Given the description of an element on the screen output the (x, y) to click on. 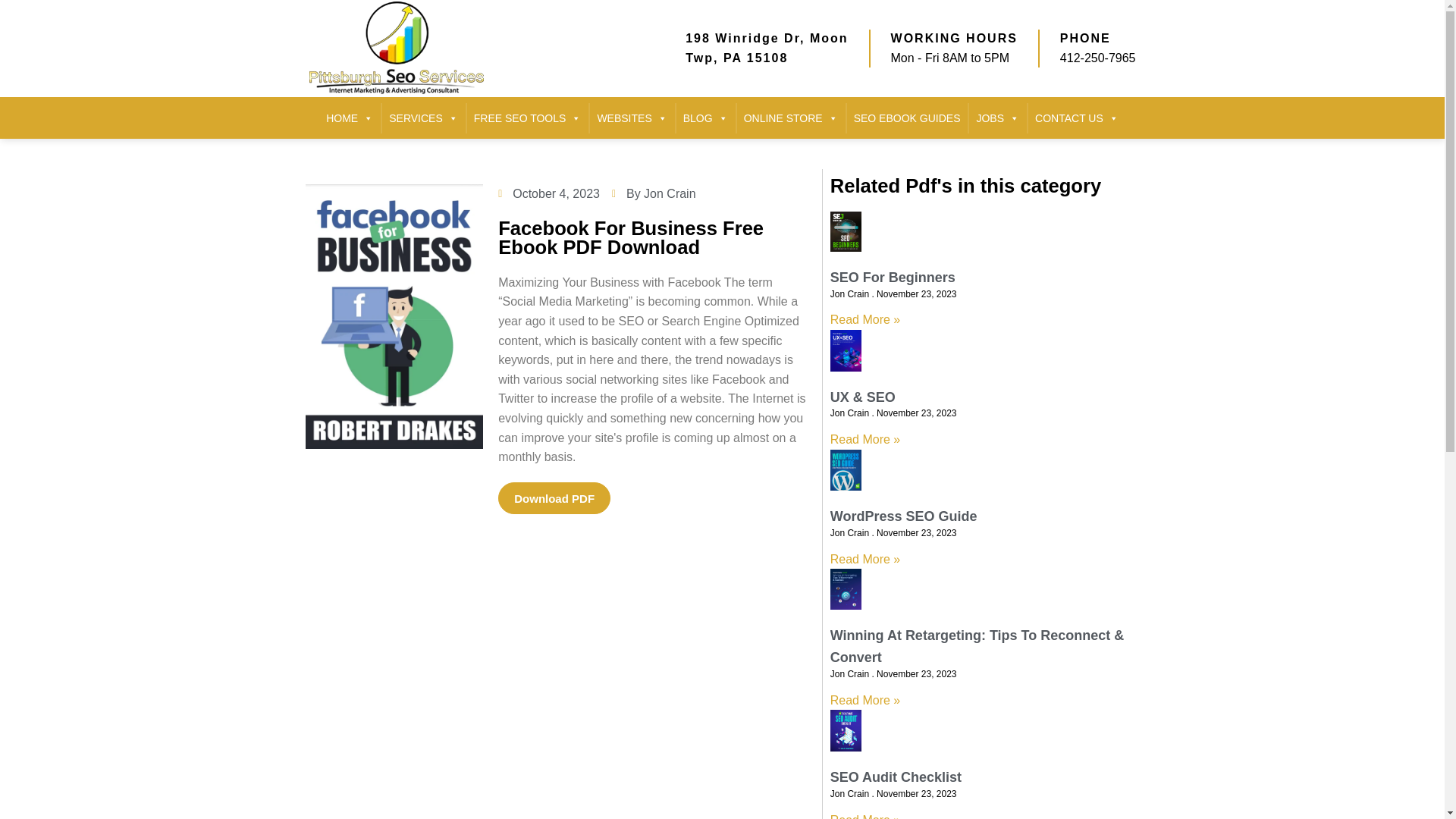
FREE SEO TOOLS (527, 118)
SERVICES (423, 118)
HOME (349, 118)
